Given the description of an element on the screen output the (x, y) to click on. 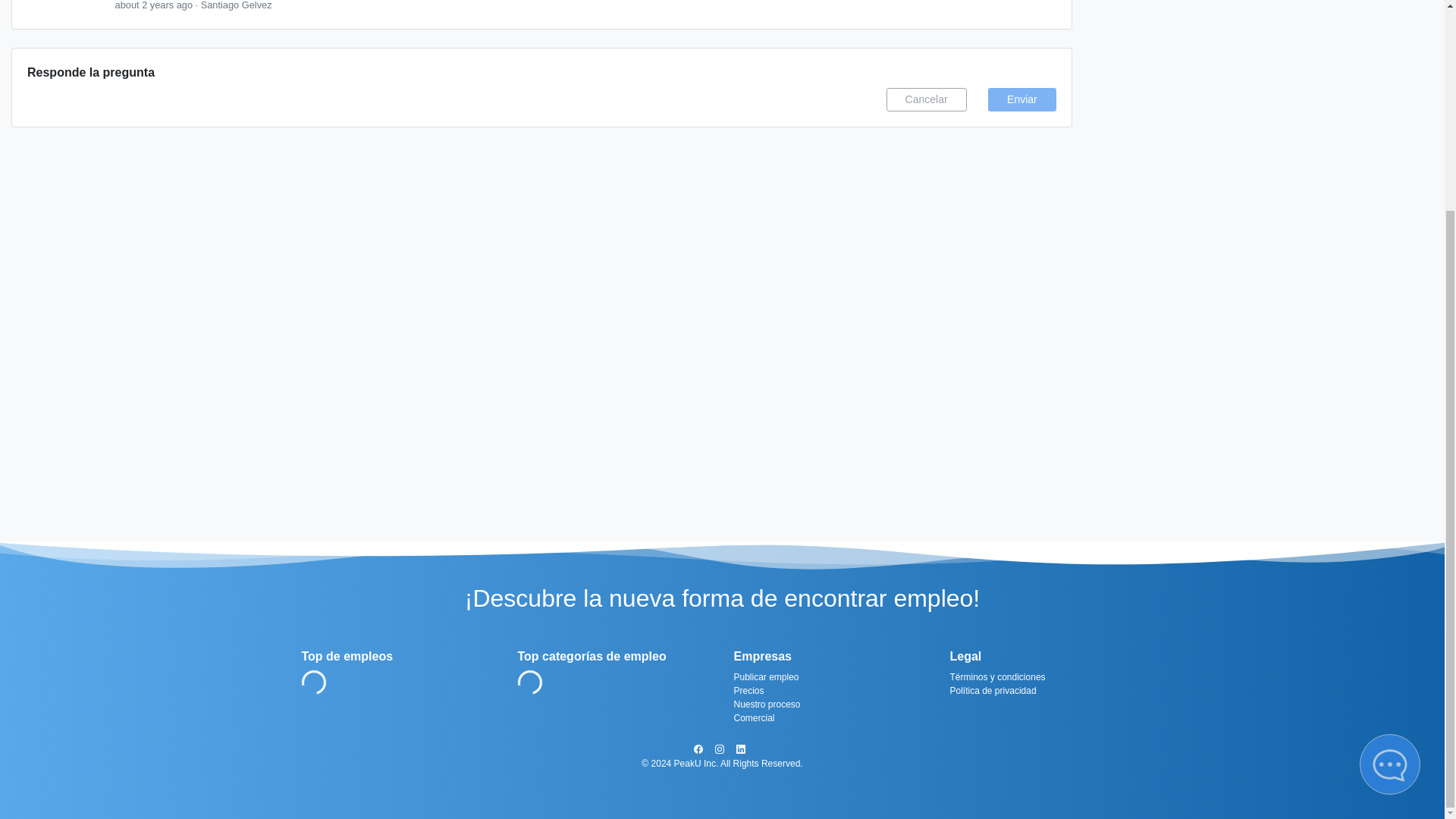
Publicar empleo (830, 676)
Nuestro proceso (830, 704)
Comercial (830, 717)
Precios (830, 690)
Enviar (1022, 99)
Cancelar (926, 99)
